Given the description of an element on the screen output the (x, y) to click on. 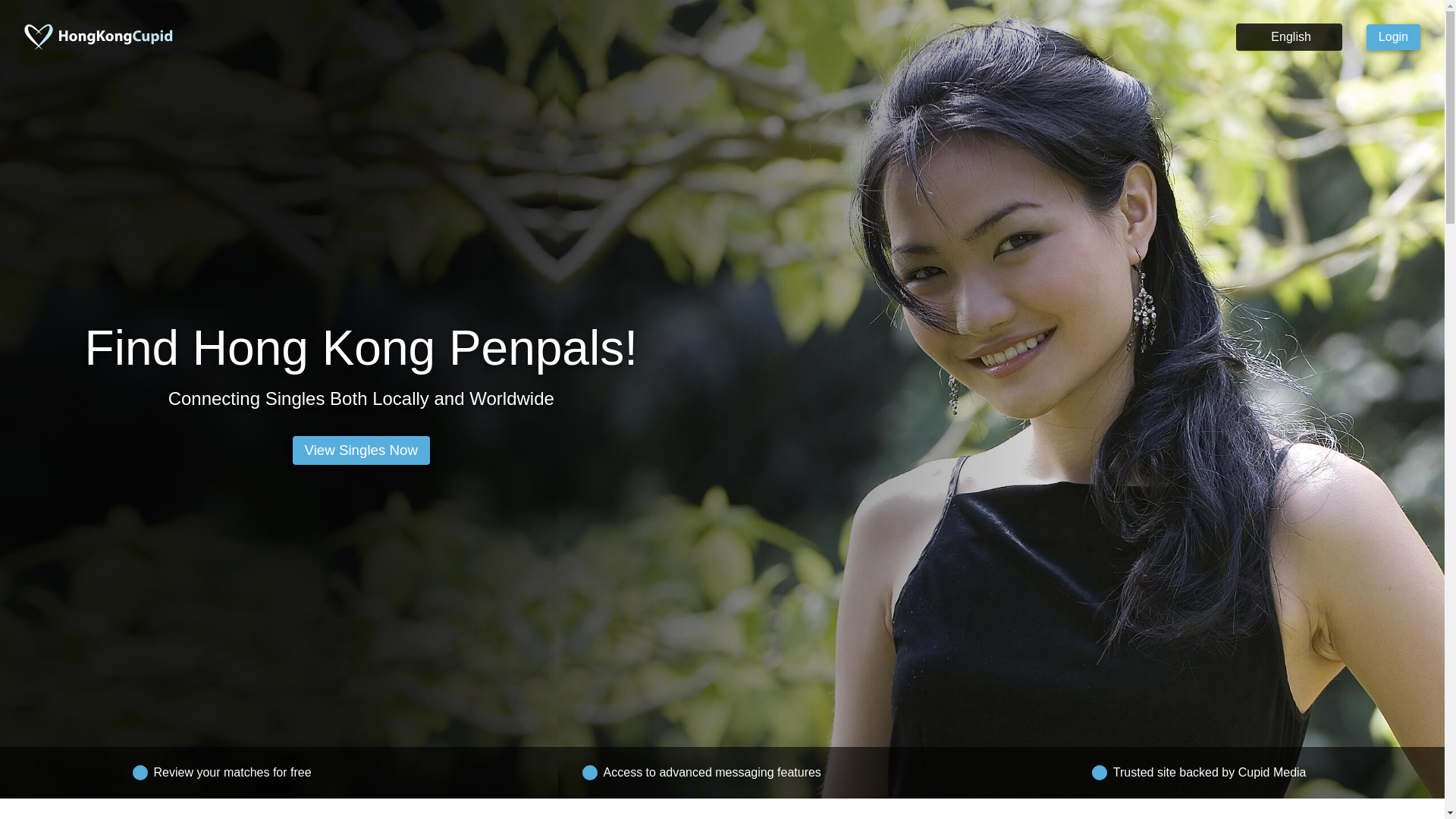
Login to HongKongCupid.com (1394, 36)
English (1288, 37)
Login (1394, 36)
Hong Kong dating, personals and singles (101, 36)
View Singles Now (360, 449)
